Given the description of an element on the screen output the (x, y) to click on. 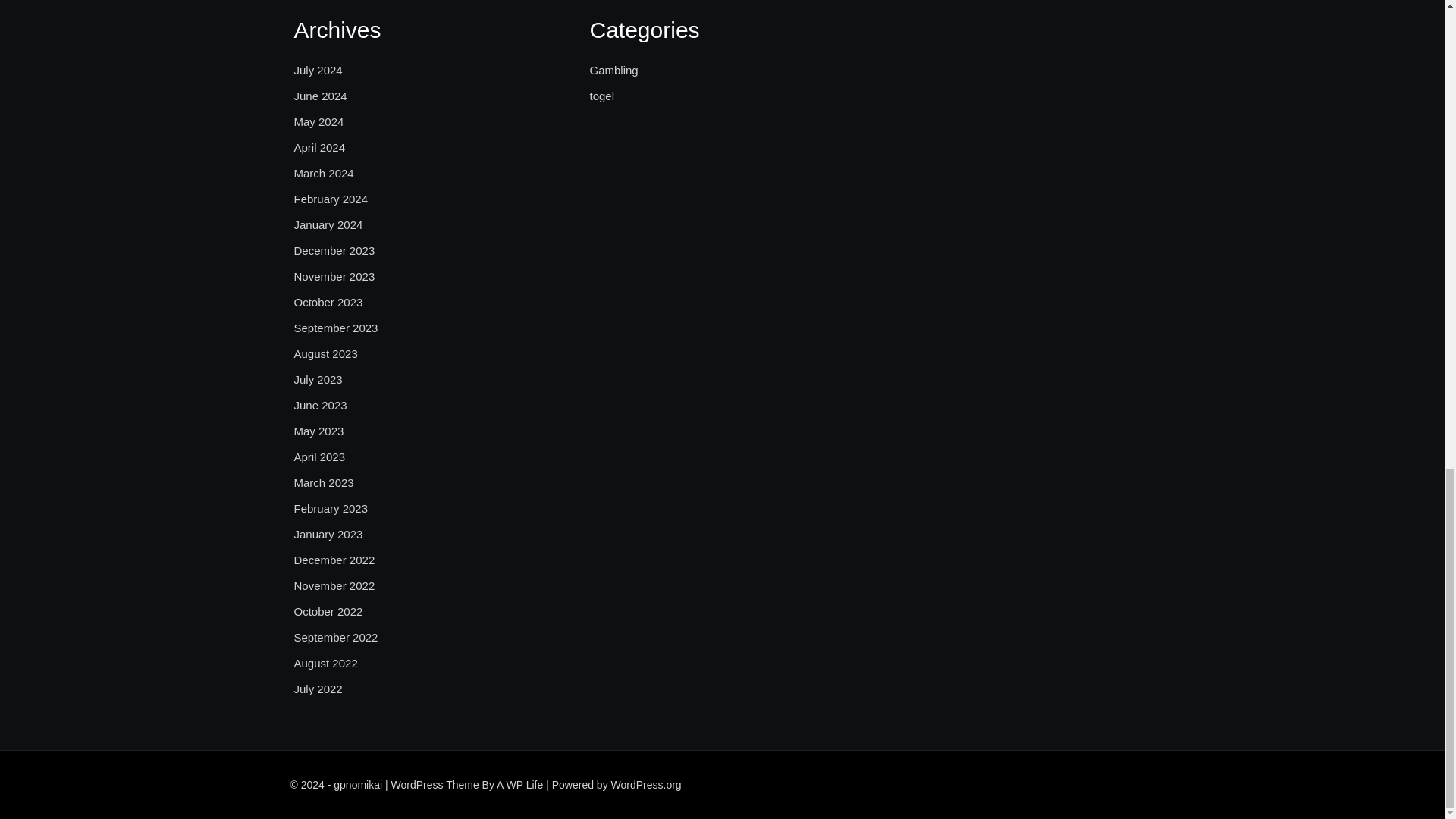
June 2023 (320, 405)
February 2024 (331, 199)
October 2023 (328, 302)
November 2022 (334, 586)
May 2024 (318, 122)
April 2023 (320, 456)
January 2023 (328, 534)
August 2023 (326, 353)
November 2023 (334, 276)
July 2024 (318, 70)
April 2024 (320, 147)
September 2023 (336, 328)
December 2023 (334, 250)
March 2023 (323, 483)
January 2024 (328, 225)
